Given the description of an element on the screen output the (x, y) to click on. 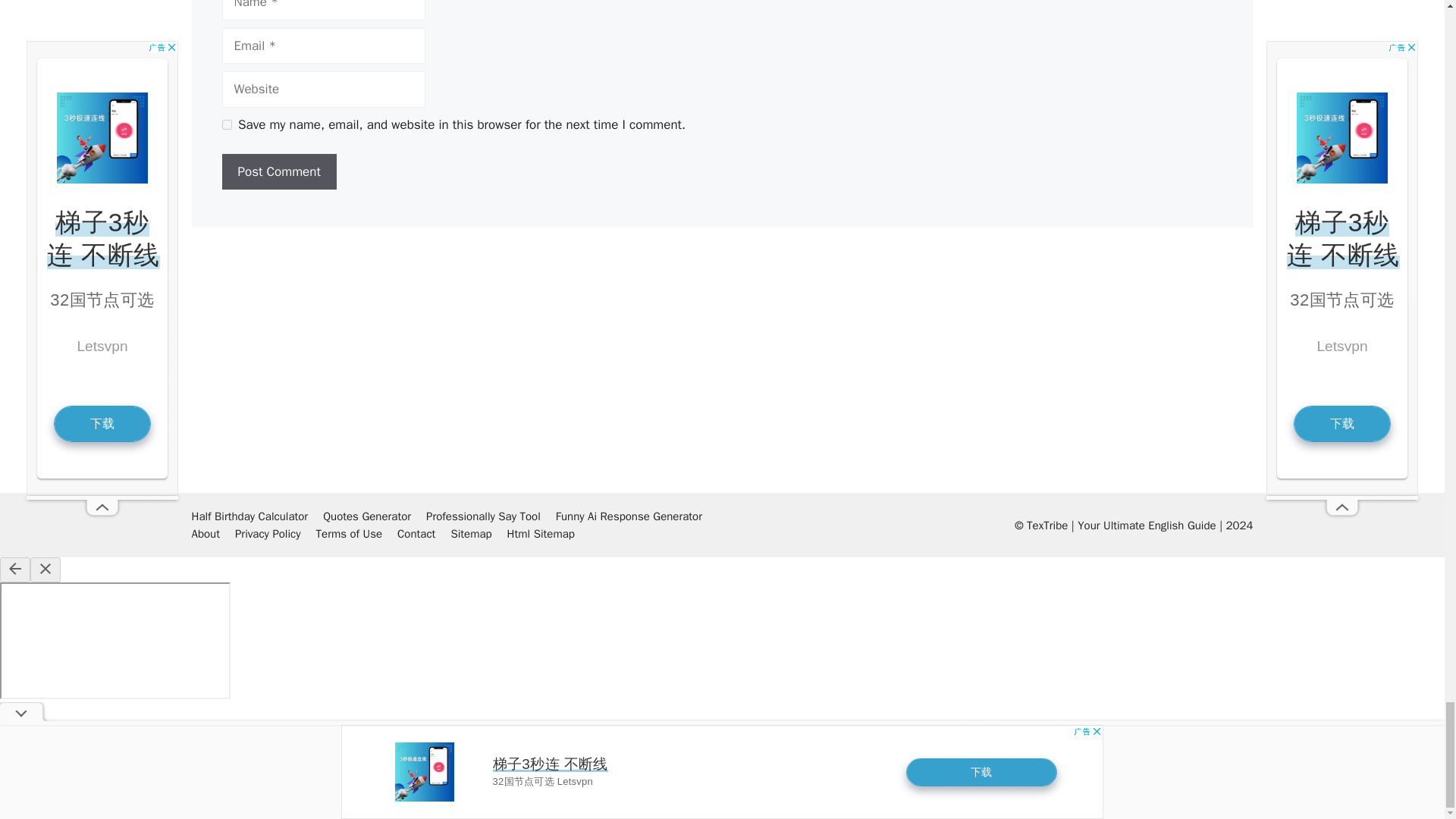
Post Comment (278, 171)
yes (226, 124)
